Given the description of an element on the screen output the (x, y) to click on. 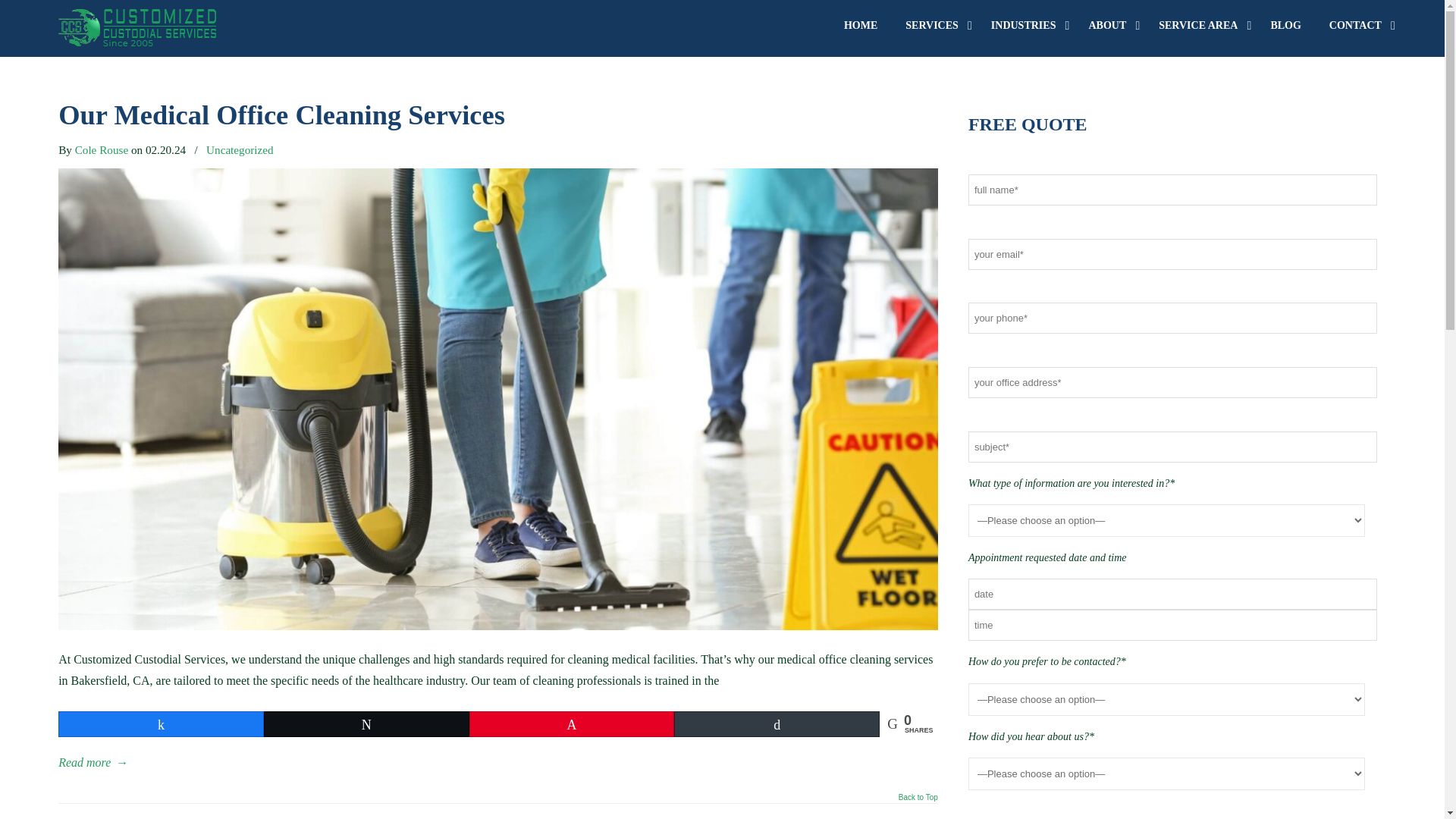
BLOG (1285, 25)
ABOUT (1109, 25)
SERVICE AREA (1199, 25)
INDUSTRIES (1025, 25)
Posts by Cole Rouse (101, 149)
Back to Top (917, 801)
CONTACT (1357, 25)
Customized Custodial Services (136, 27)
SERVICES (933, 25)
Our Medical Office Cleaning Services (497, 625)
HOME (860, 25)
Our Medical Office Cleaning Services (281, 114)
Uncategorized (239, 149)
Read more (93, 762)
Our Medical Office Cleaning Services (281, 114)
